Given the description of an element on the screen output the (x, y) to click on. 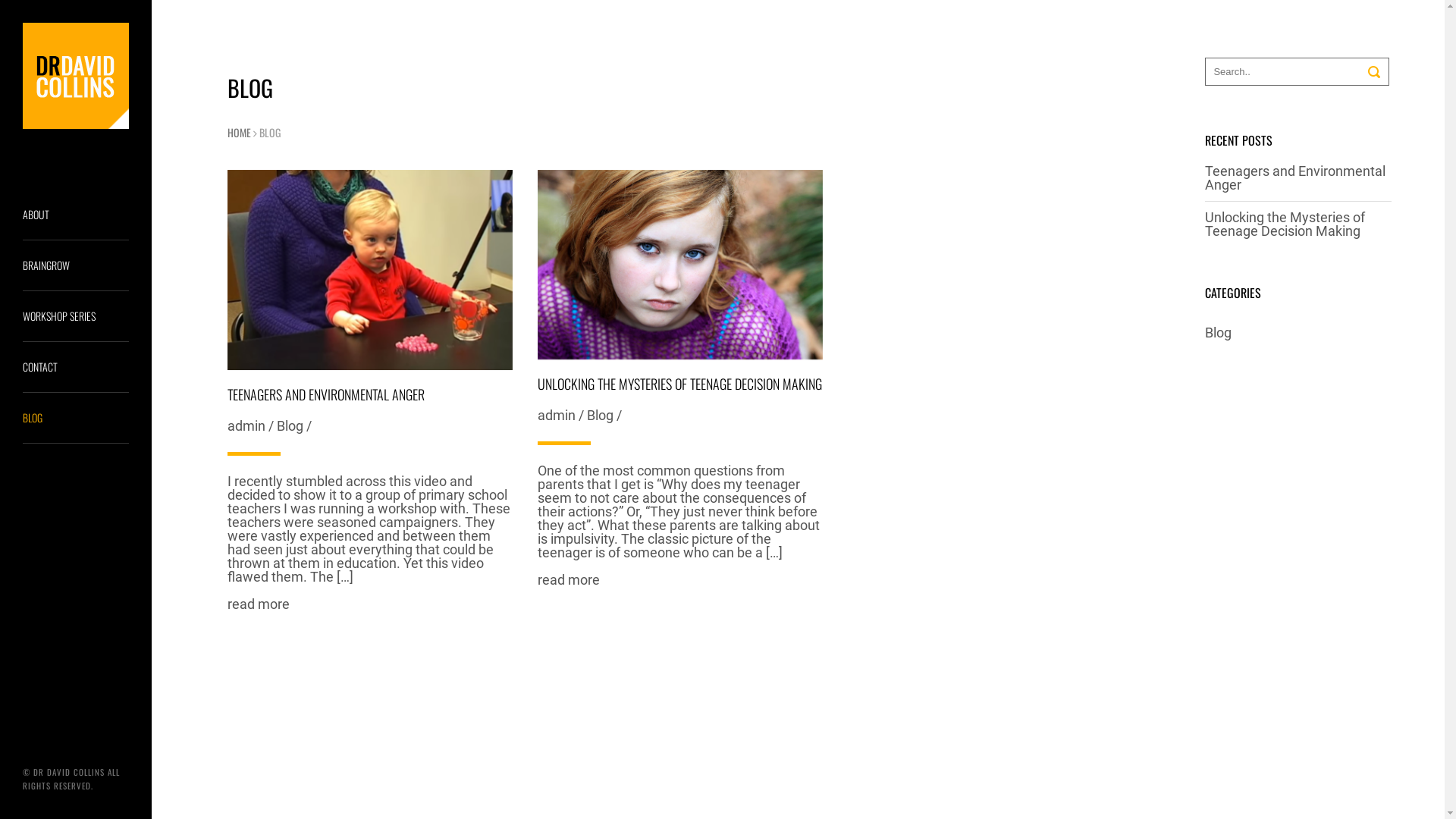
WORKSHOP SERIES Element type: text (75, 316)
Blog Element type: text (1217, 332)
BLOG Element type: text (75, 417)
read more Element type: text (568, 579)
UNLOCKING THE MYSTERIES OF TEENAGE DECISION MAKING Element type: text (679, 383)
BRAINGROW Element type: text (75, 265)
Unlocking the Mysteries of Teenage Decision Making Element type: text (1284, 223)
Blog Element type: text (289, 425)
CONTACT Element type: text (75, 367)
Teenagers and Environmental Anger Element type: text (1294, 177)
ABOUT Element type: text (75, 214)
read more Element type: text (258, 603)
admin Element type: text (246, 425)
Blog Element type: text (599, 415)
TEENAGERS AND ENVIRONMENTAL ANGER Element type: text (325, 394)
admin Element type: text (556, 415)
HOME Element type: text (239, 132)
